Given the description of an element on the screen output the (x, y) to click on. 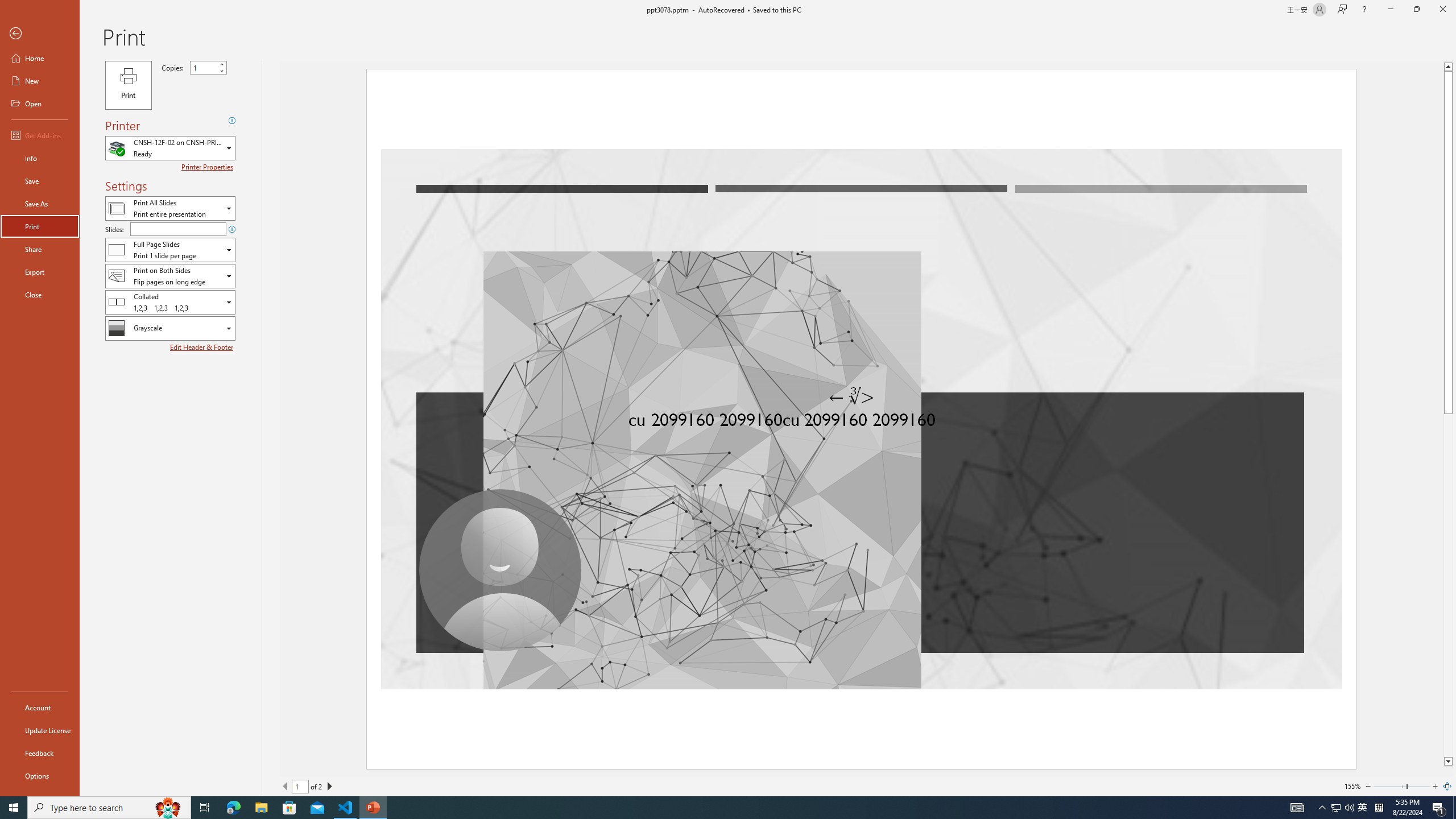
Page left (1389, 786)
Export (40, 271)
Slides (178, 228)
Next Page (328, 786)
Get Add-ins (40, 134)
Info (40, 157)
Class: NetUIScrollBar (1447, 413)
Page right (1418, 786)
Print (127, 84)
